Given the description of an element on the screen output the (x, y) to click on. 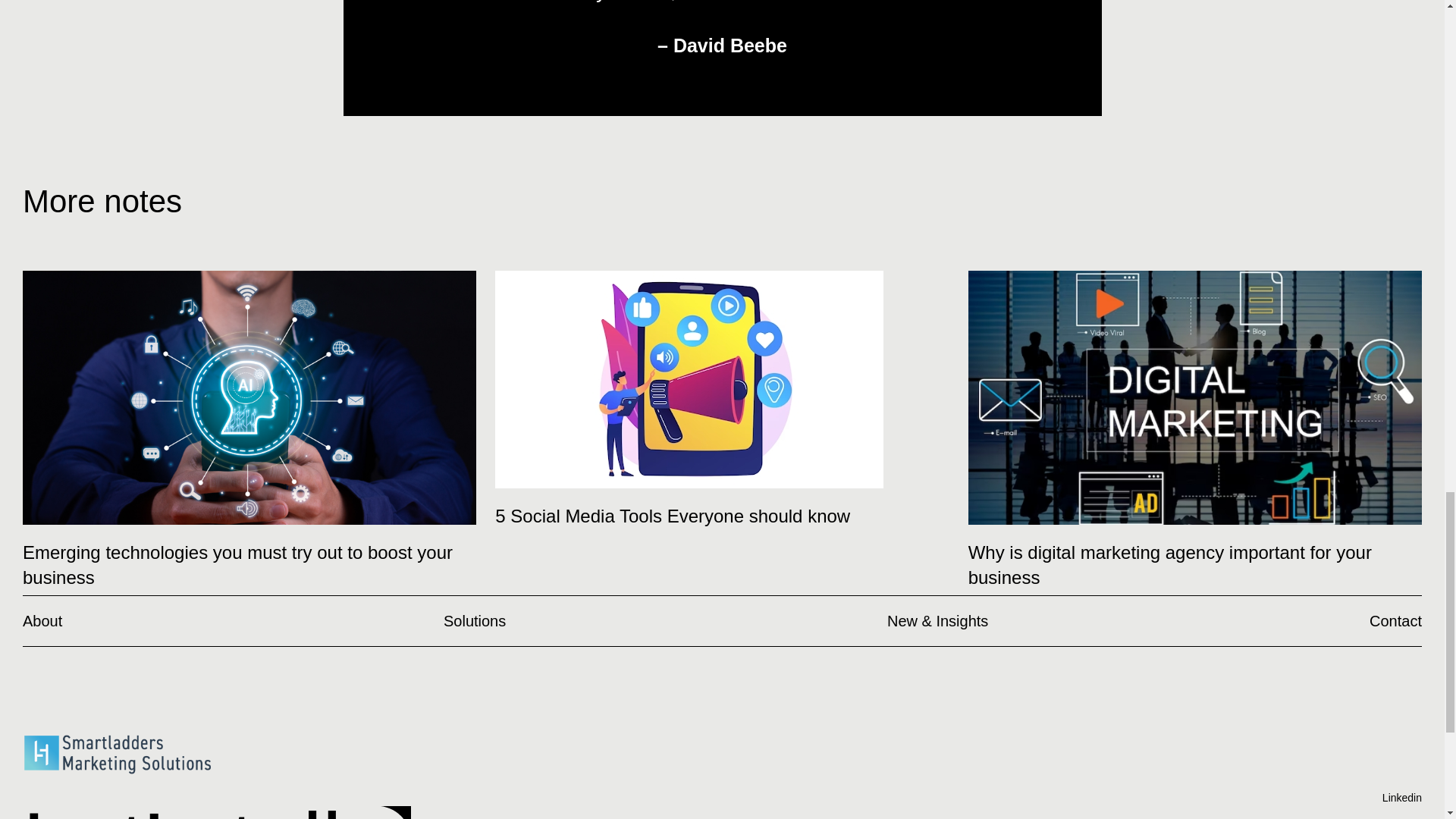
Why is digital marketing agency important for your business (1398, 801)
Linkedin (1169, 565)
Contact (1398, 797)
Solutions (1396, 621)
5 Social Media Tools Everyone should know (474, 621)
About (672, 516)
Twitter (42, 621)
